Given the description of an element on the screen output the (x, y) to click on. 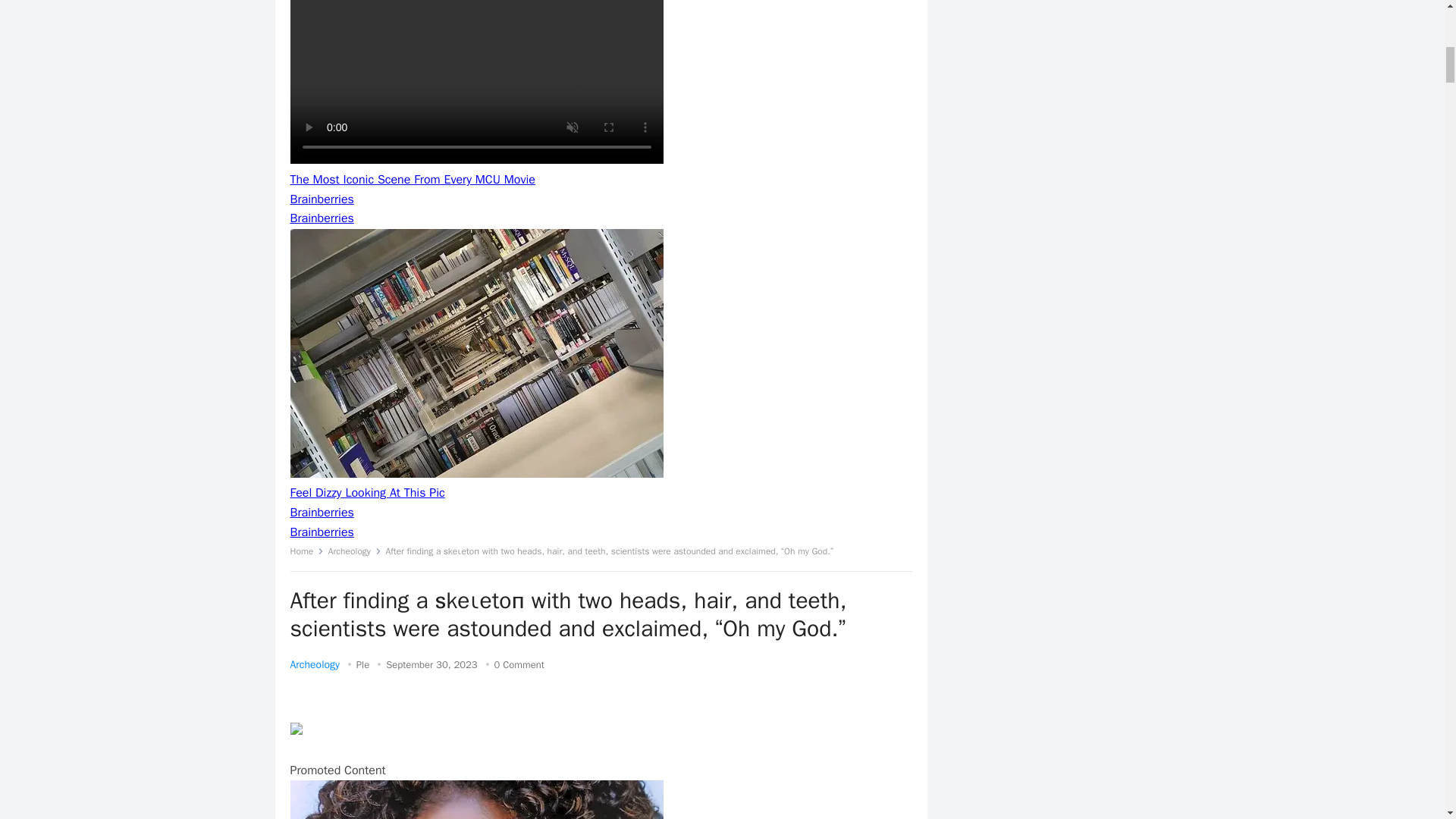
Archeology (314, 664)
Ple (362, 664)
0 Comment (519, 664)
Home (306, 551)
Archeology (355, 551)
Posts by Ple (362, 664)
